Given the description of an element on the screen output the (x, y) to click on. 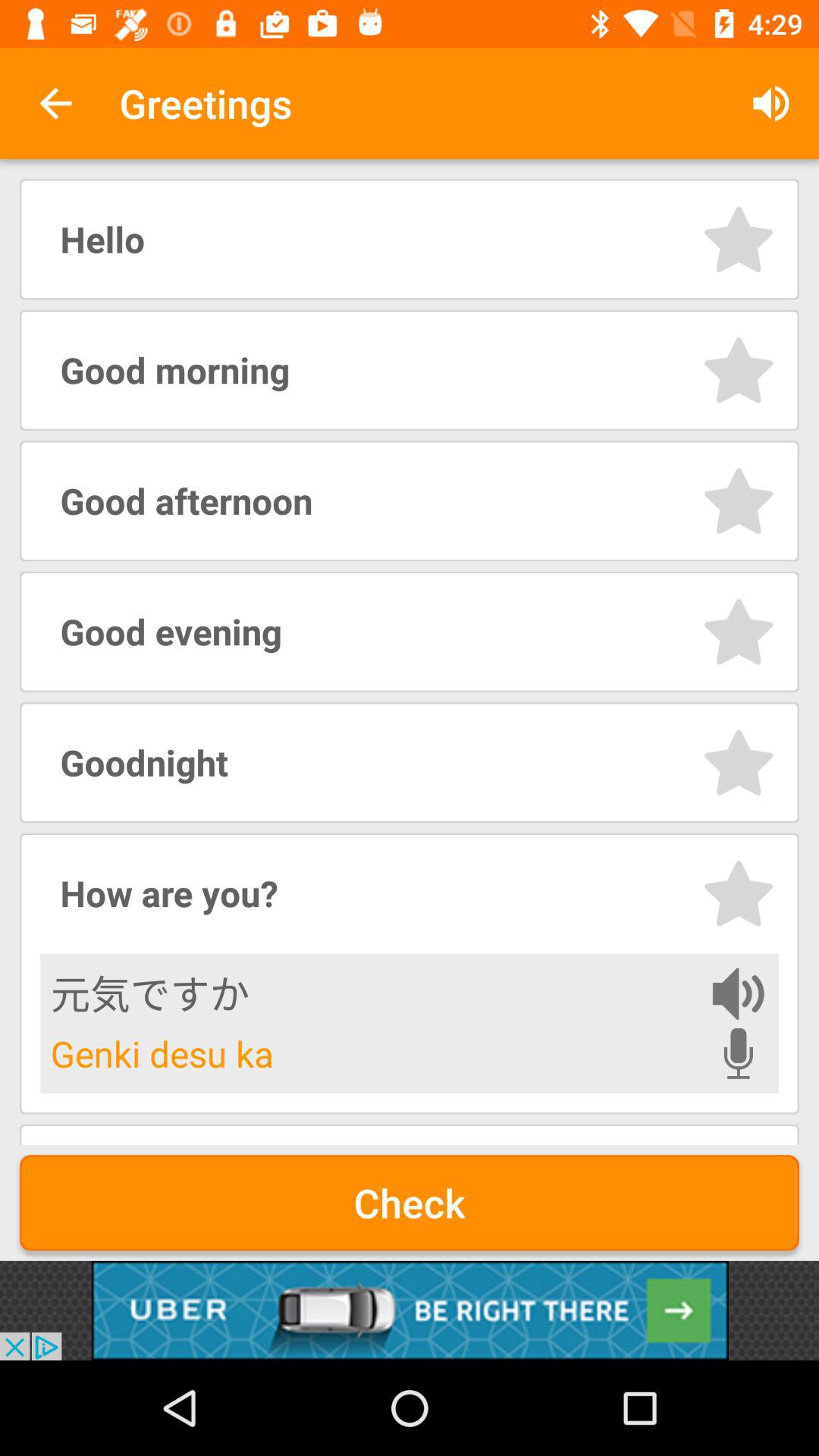
mark for like (738, 893)
